Given the description of an element on the screen output the (x, y) to click on. 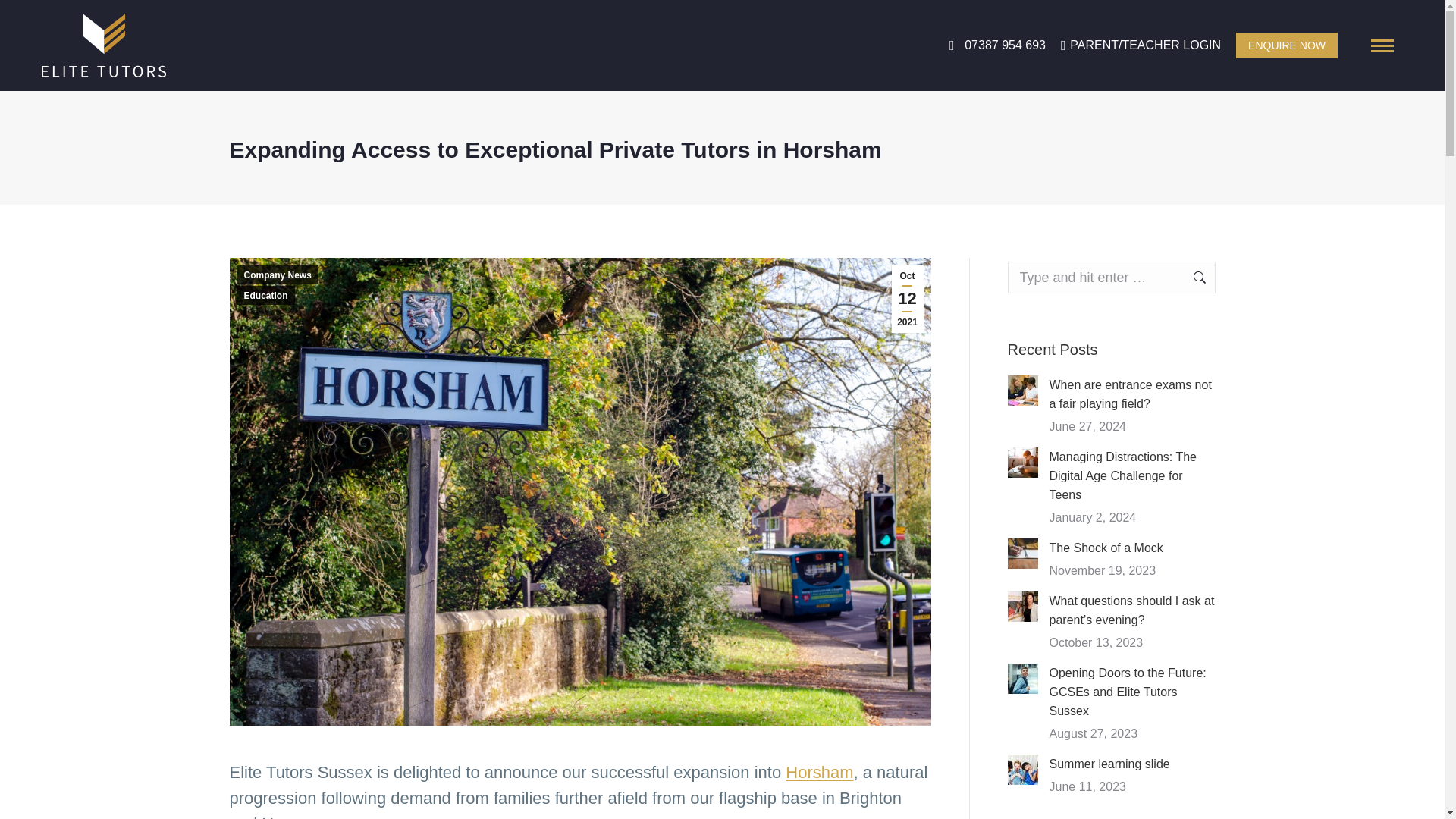
Go! (1191, 277)
ENQUIRE NOW (1287, 45)
Go! (1191, 277)
